Given the description of an element on the screen output the (x, y) to click on. 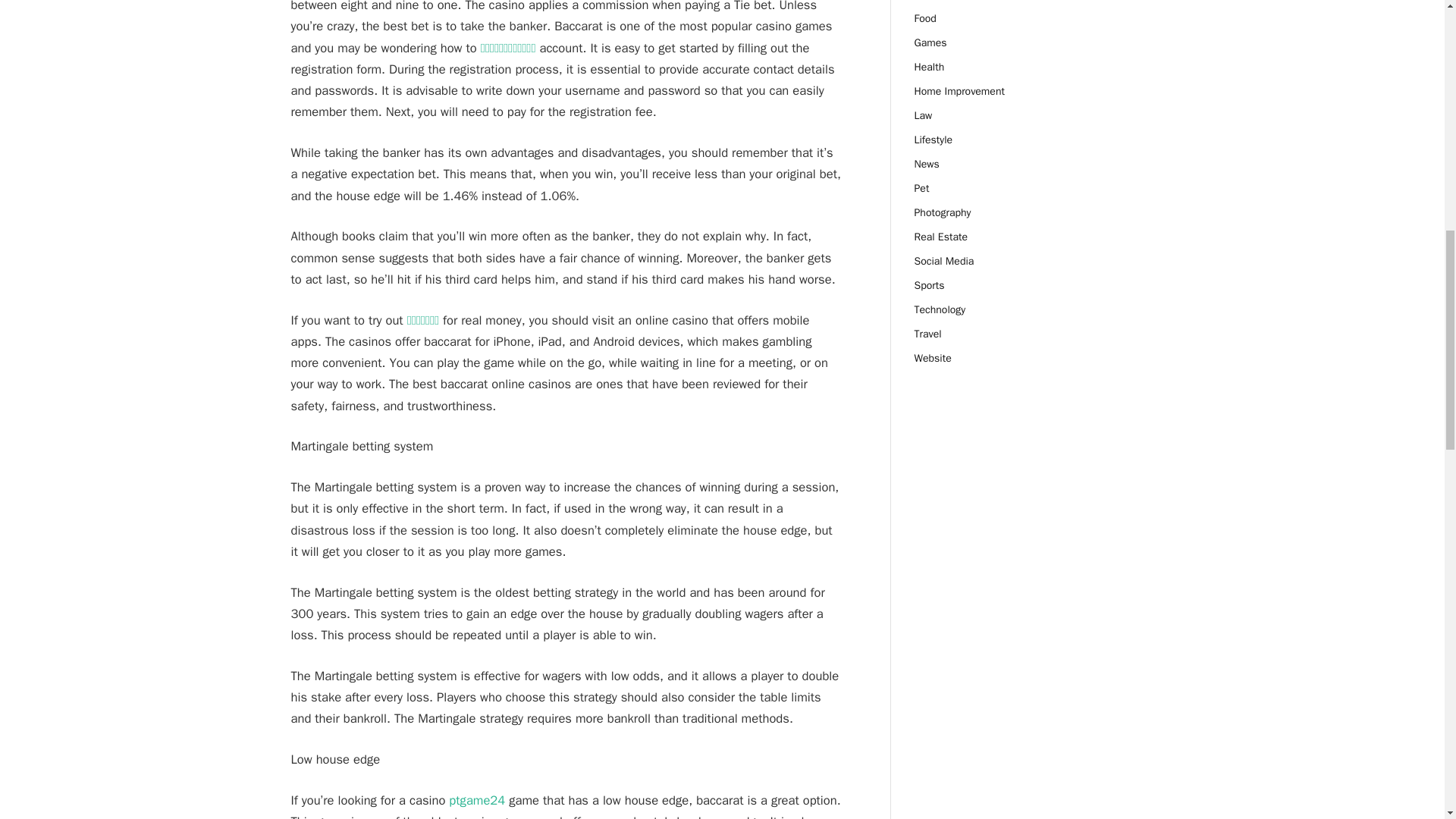
ptgame24 (476, 800)
